Given the description of an element on the screen output the (x, y) to click on. 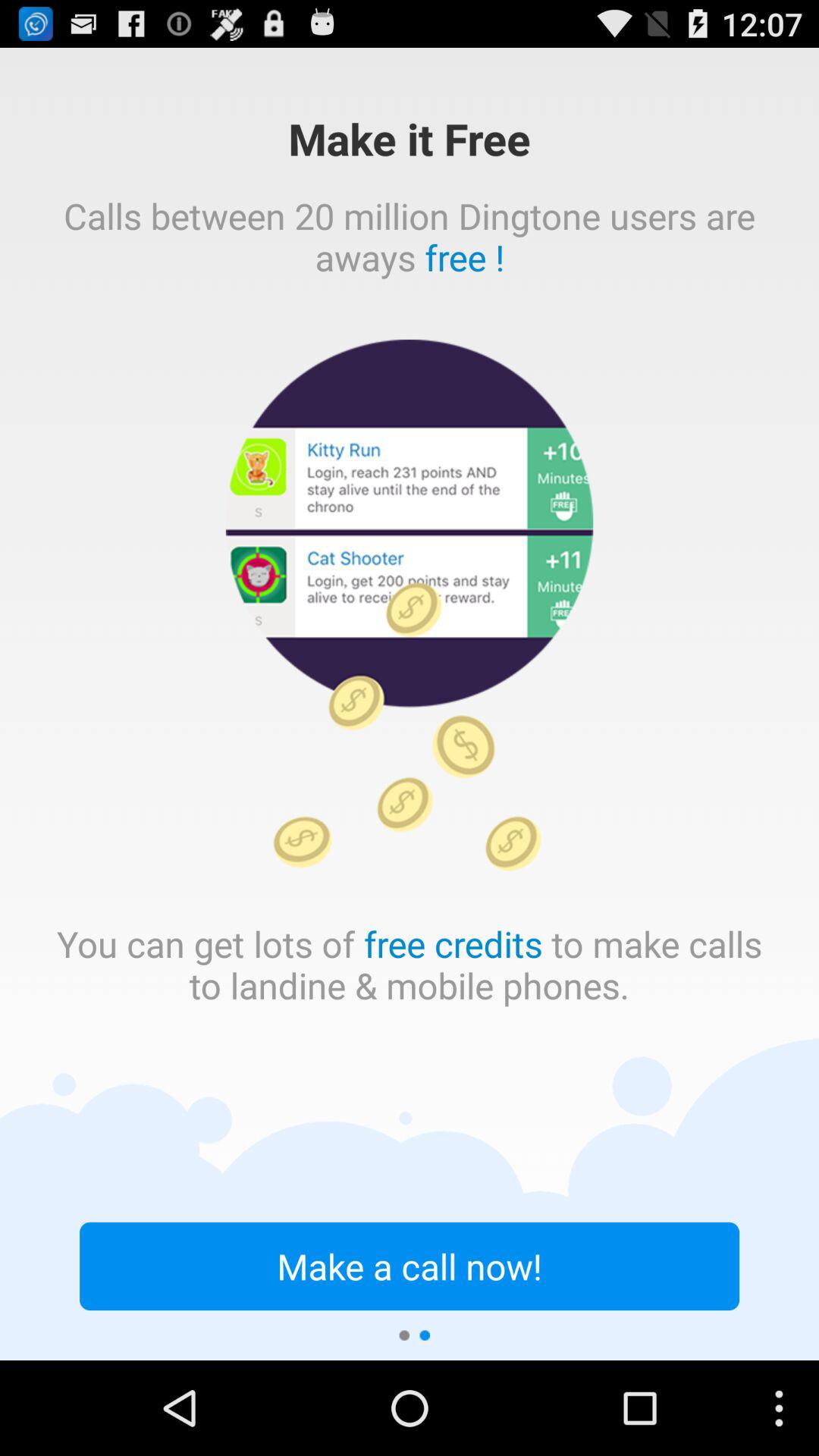
jump to make a call icon (409, 1266)
